Given the description of an element on the screen output the (x, y) to click on. 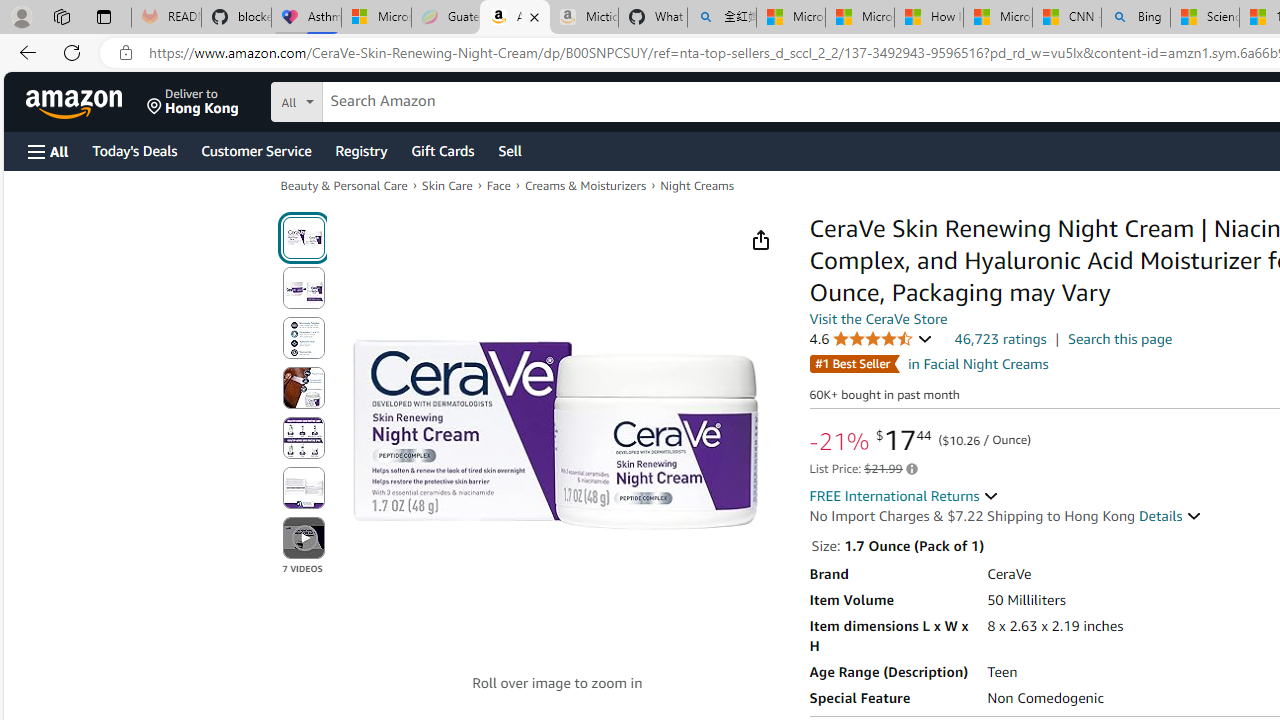
Beauty & Personal Care (344, 184)
Gift Cards (442, 150)
Creams & Moisturizers (584, 185)
Tab actions menu (104, 16)
Science - MSN (1205, 17)
Visit the CeraVe Store (878, 319)
Close tab (534, 16)
Microsoft-Report a Concern to Bing (375, 17)
Face (498, 184)
Open Menu (48, 151)
Learn more about Amazon pricing and savings (910, 469)
Deliver to Hong Kong (193, 101)
Asthma Inhalers: Names and Types (305, 17)
Skin Care (447, 185)
